Given the description of an element on the screen output the (x, y) to click on. 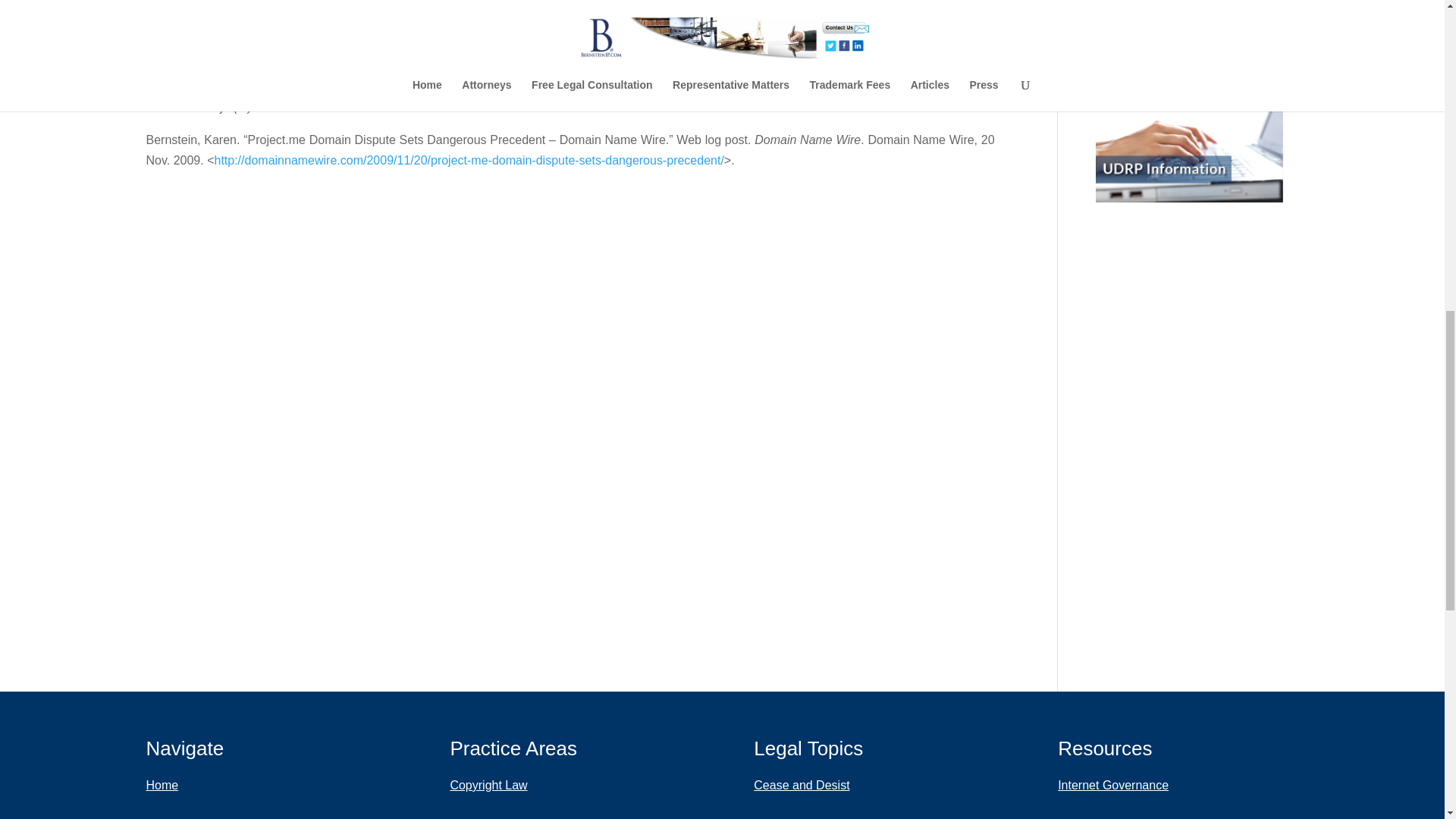
Home (210, 785)
Attorneys (210, 812)
Bernstein IP Attorneys (210, 812)
Copyright Articles (808, 812)
karenbernsteinlaw.com (318, 106)
Copyright Law (512, 785)
Trademark Law (512, 812)
Cease and Desist Articles (808, 785)
Trademark Law (512, 812)
Copyright Law (512, 785)
